Given the description of an element on the screen output the (x, y) to click on. 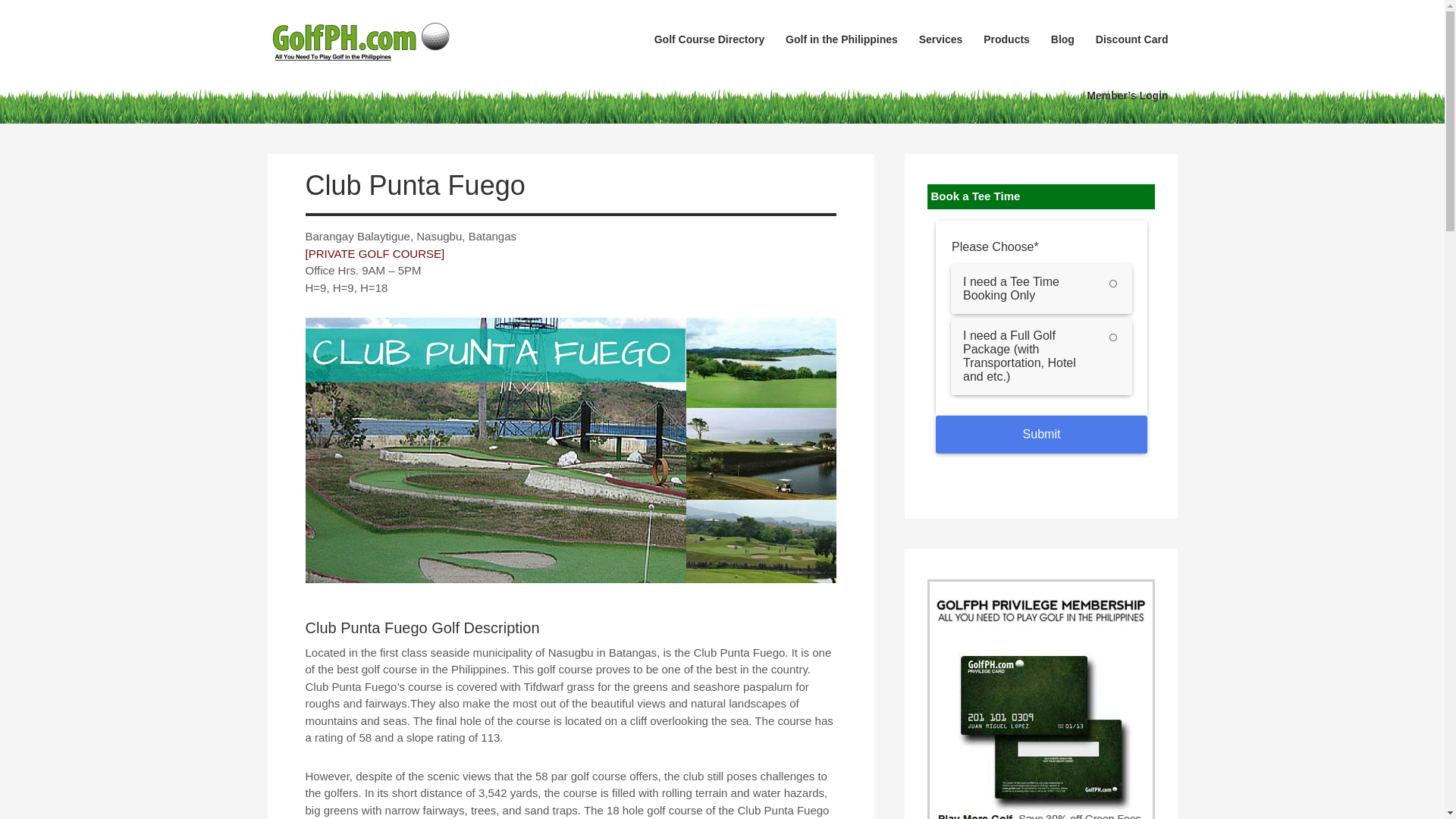
Products (1006, 39)
Golf Course Directory (709, 39)
Golf in the Philippines (841, 39)
Services (941, 39)
